Given the description of an element on the screen output the (x, y) to click on. 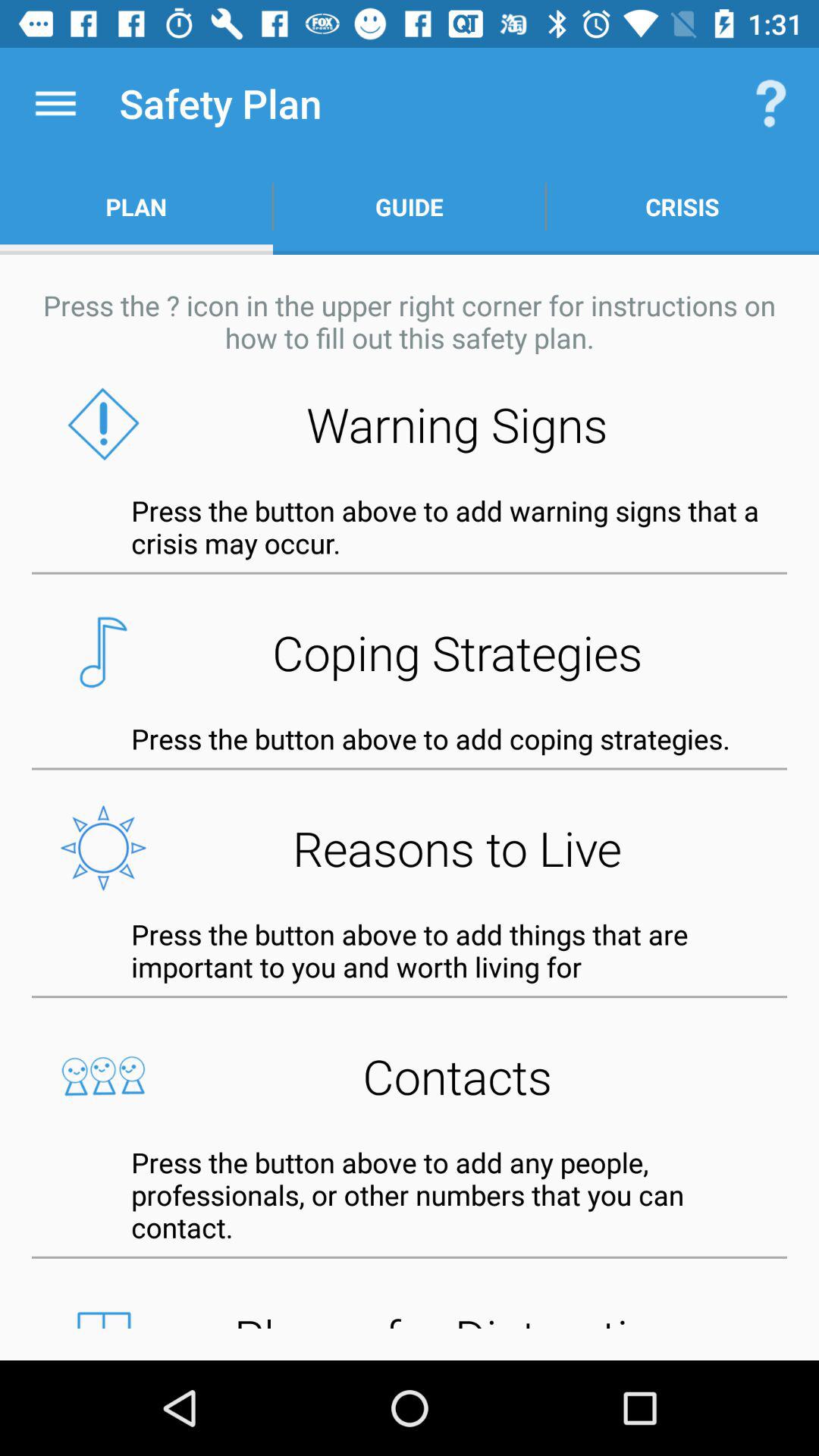
turn off item to the left of the crisis app (409, 206)
